Given the description of an element on the screen output the (x, y) to click on. 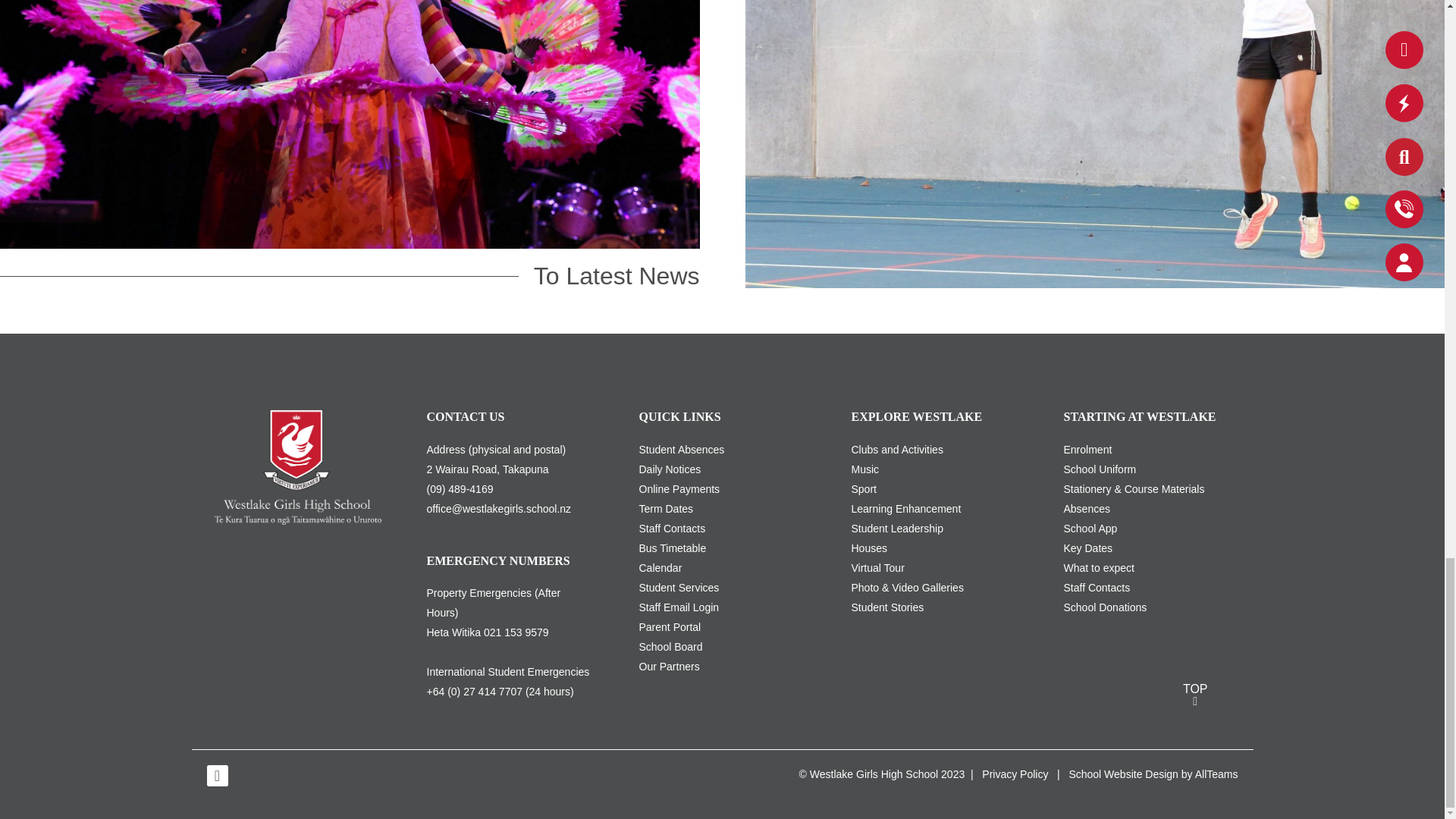
Term Dates (666, 508)
Auckland NZ Website Design, School Website Designers (1122, 774)
Staff Email Login (679, 607)
Learning Enhancement (905, 508)
021 153 9579 (515, 632)
Online Payments (679, 489)
Student Absences (681, 449)
Houses (868, 548)
Virtual Tour (877, 567)
To Latest News (609, 275)
